Given the description of an element on the screen output the (x, y) to click on. 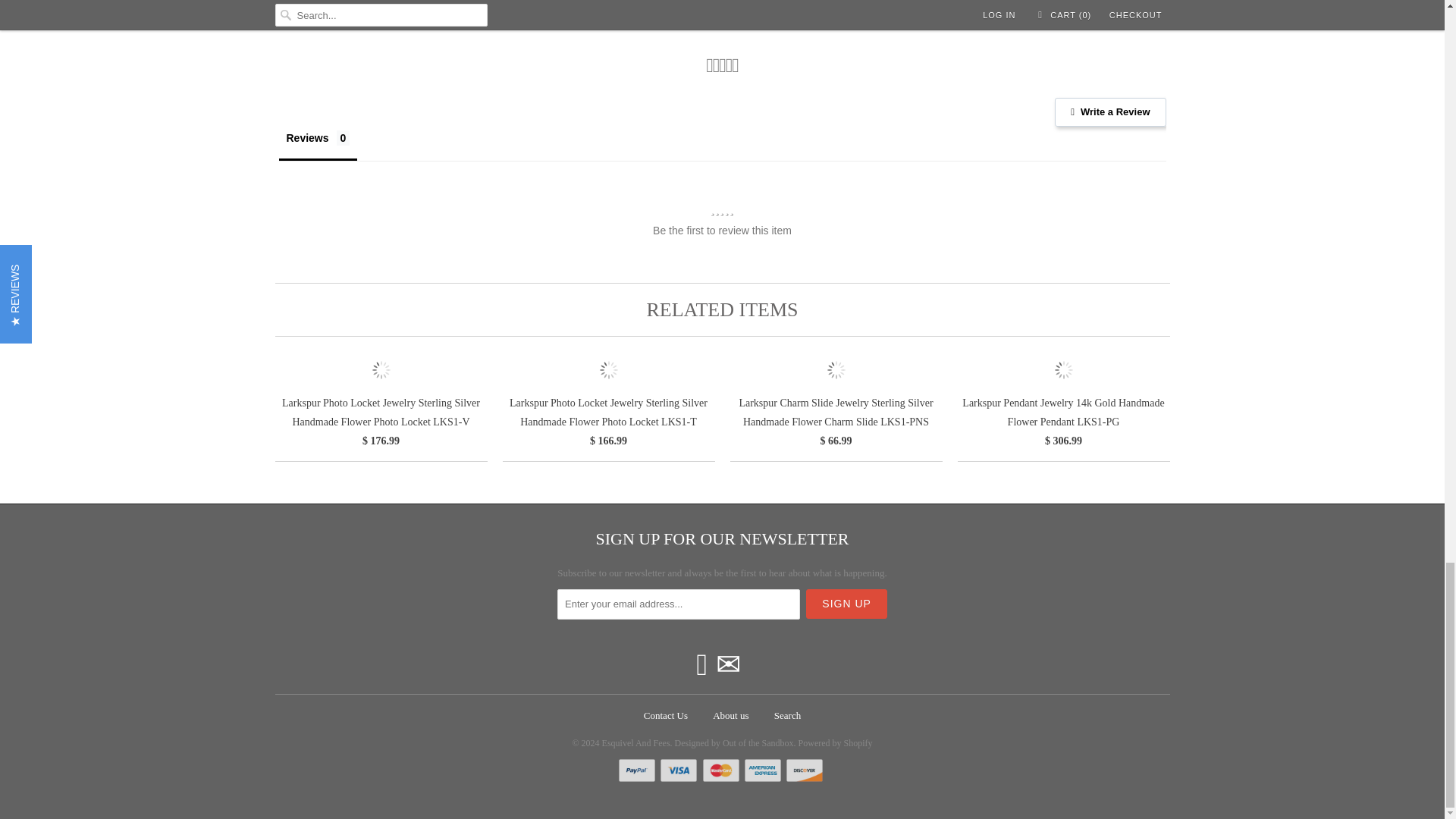
Mobilia Shopify Theme by Out of the Sandbox (734, 738)
Sign Up (846, 603)
Email Esquivel And Fees (728, 664)
